Given the description of an element on the screen output the (x, y) to click on. 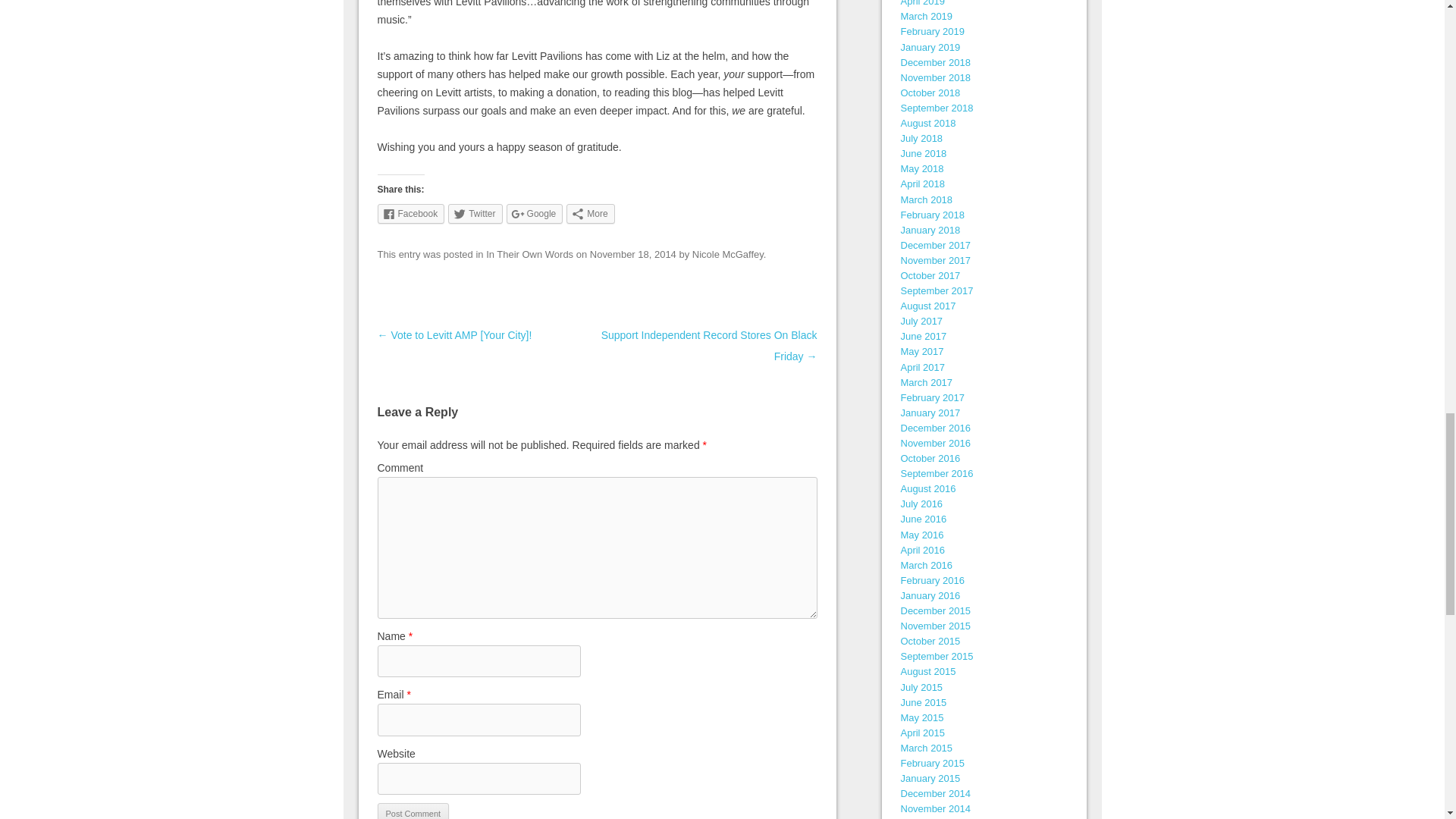
More (590, 213)
Nicole McGaffey (727, 254)
Click to share on Facebook (411, 213)
Post Comment (413, 811)
Google (534, 213)
View all posts by Nicole McGaffey (727, 254)
Facebook (411, 213)
Twitter (475, 213)
In Their Own Words (529, 254)
7:31 pm (633, 254)
